Given the description of an element on the screen output the (x, y) to click on. 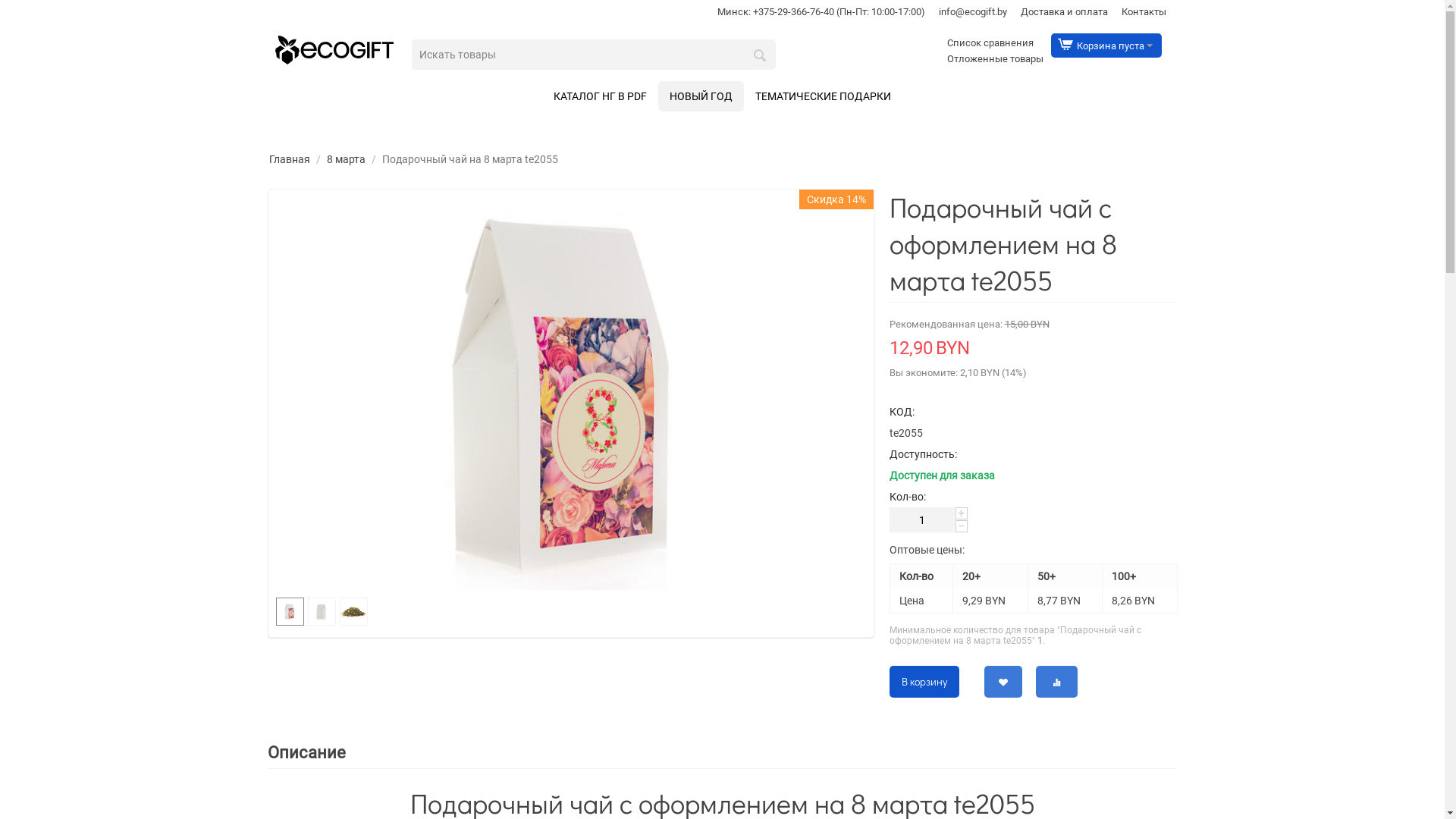
+ Element type: text (961, 513)
info@ecogift.by Element type: text (972, 11)
